Given the description of an element on the screen output the (x, y) to click on. 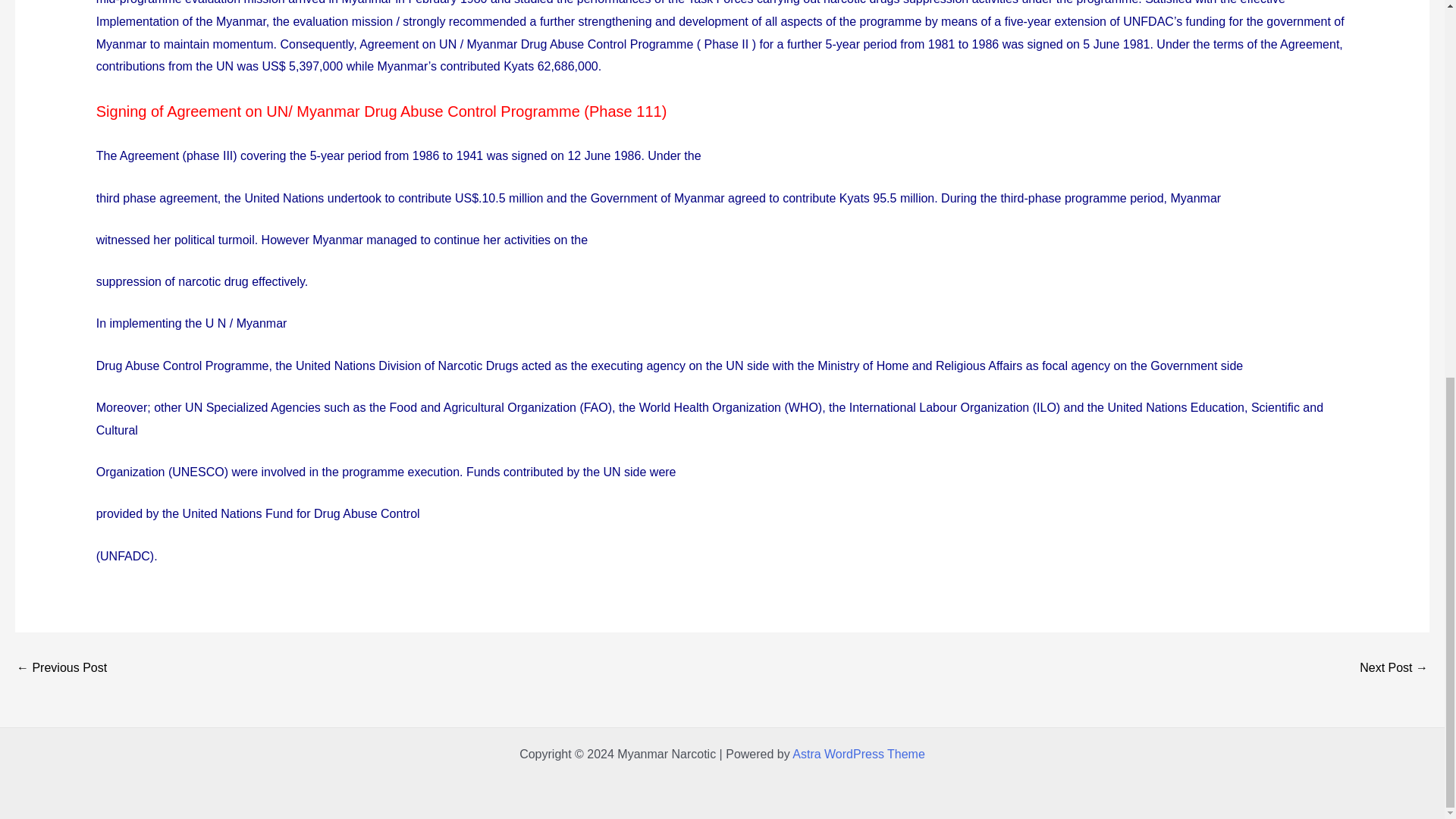
Astra WordPress Theme (858, 753)
MOFA: Republic of Cuba (1393, 667)
